Given the description of an element on the screen output the (x, y) to click on. 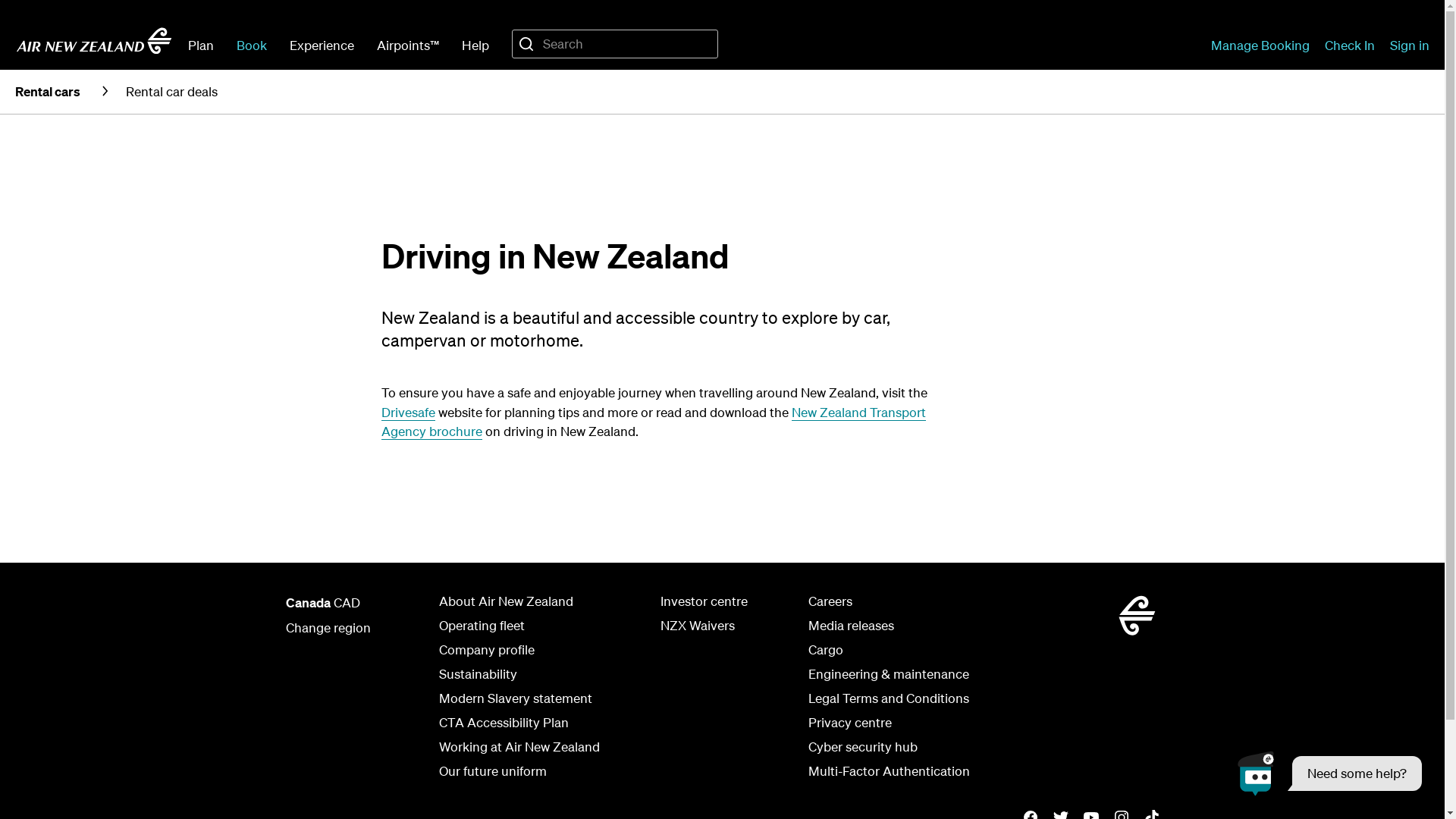
Sign in Element type: text (1409, 44)
Our future uniform Element type: text (492, 770)
Legal Terms and Conditions Element type: text (888, 698)
NZX Waivers Element type: text (696, 625)
Book Element type: text (251, 44)
Media releases Element type: text (851, 625)
Change region Element type: text (327, 627)
Company profile Element type: text (485, 649)
Privacy centre Element type: text (849, 722)
Sustainability Element type: text (477, 673)
Experience Element type: text (321, 44)
Working at Air New Zealand Element type: text (518, 746)
Rental cars Element type: text (47, 91)
Drivesafe Element type: text (407, 412)
Multi-Factor Authentication Element type: text (888, 770)
Manage Booking Element type: text (1260, 44)
Check In Element type: text (1349, 44)
New Zealand Transport Agency brochure Element type: text (652, 422)
Investor centre Element type: text (702, 601)
Help Element type: text (475, 44)
Engineering & maintenance Element type: text (888, 673)
Cyber security hub Element type: text (862, 746)
Rental car deals Element type: text (171, 91)
Cargo Element type: text (825, 649)
Operating fleet Element type: text (481, 625)
About Air New Zealand Element type: text (505, 601)
Plan Element type: text (200, 44)
Careers Element type: text (830, 601)
CTA Accessibility Plan Element type: text (502, 722)
Modern Slavery statement Element type: text (514, 698)
